Given the description of an element on the screen output the (x, y) to click on. 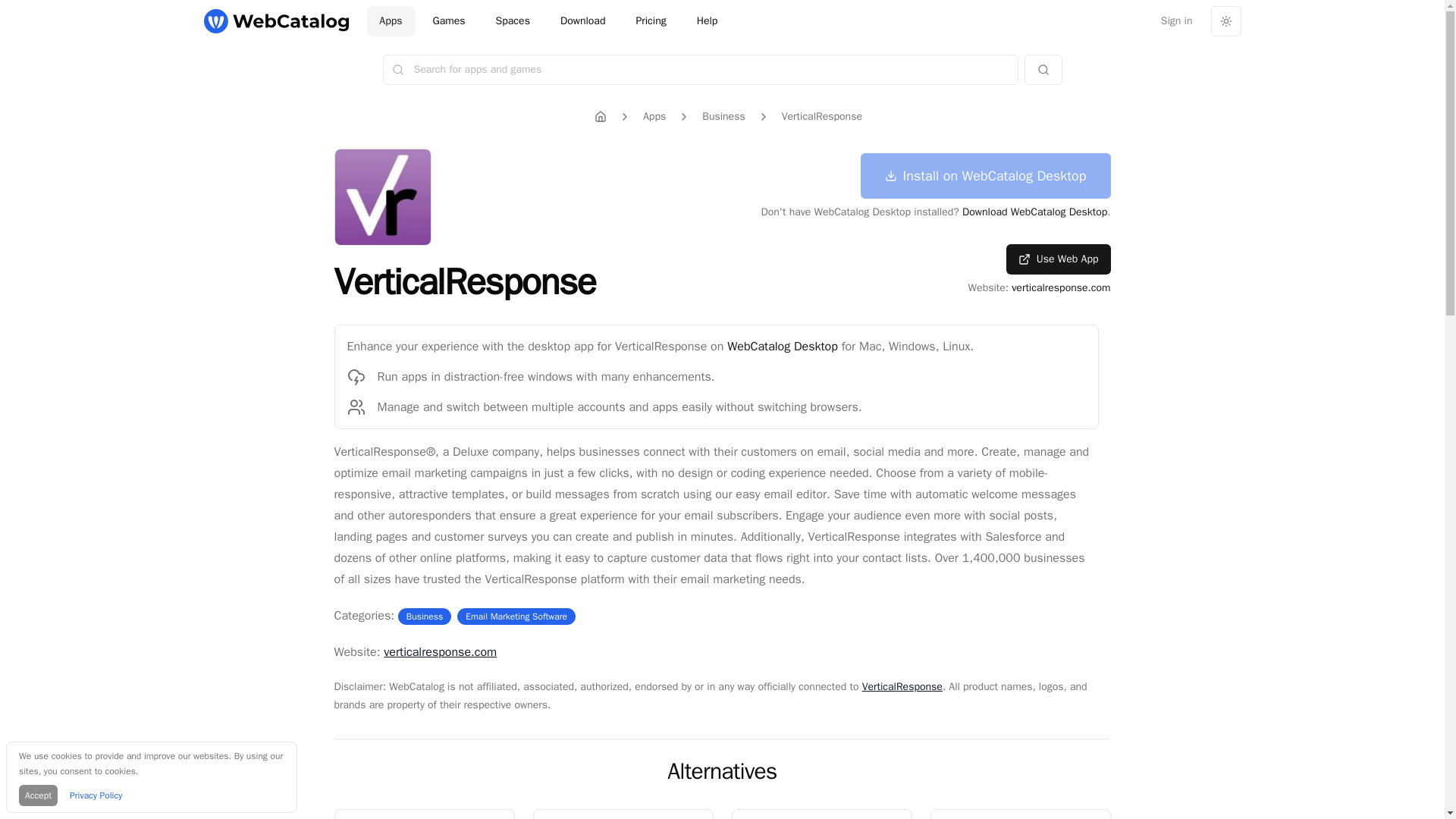
VerticalResponse (820, 814)
Games (821, 116)
Alternatives (448, 20)
Search (721, 770)
Business (1042, 69)
verticalresponse.com (722, 116)
Download WebCatalog Desktop (1060, 287)
Apps (1034, 211)
verticalresponse.com (389, 20)
